Given the description of an element on the screen output the (x, y) to click on. 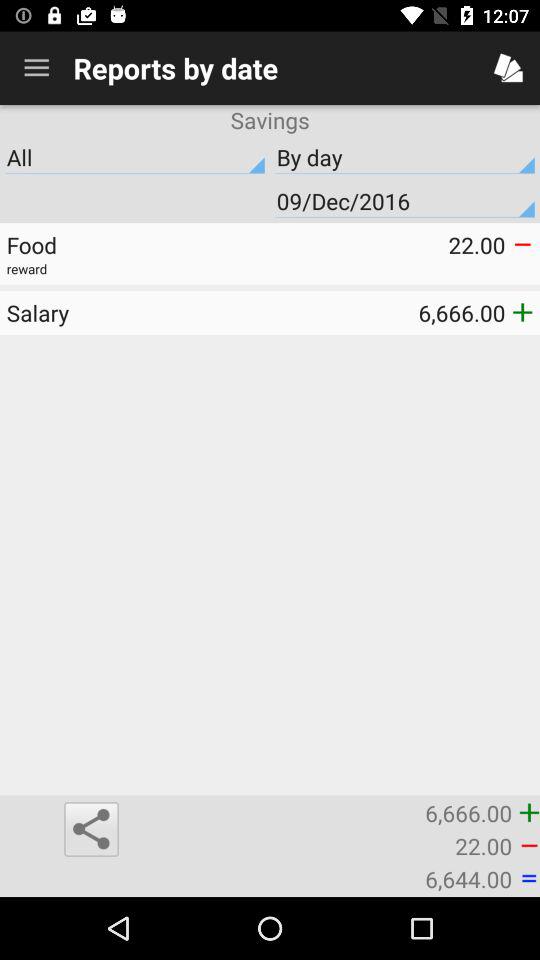
select reward item (269, 268)
